Given the description of an element on the screen output the (x, y) to click on. 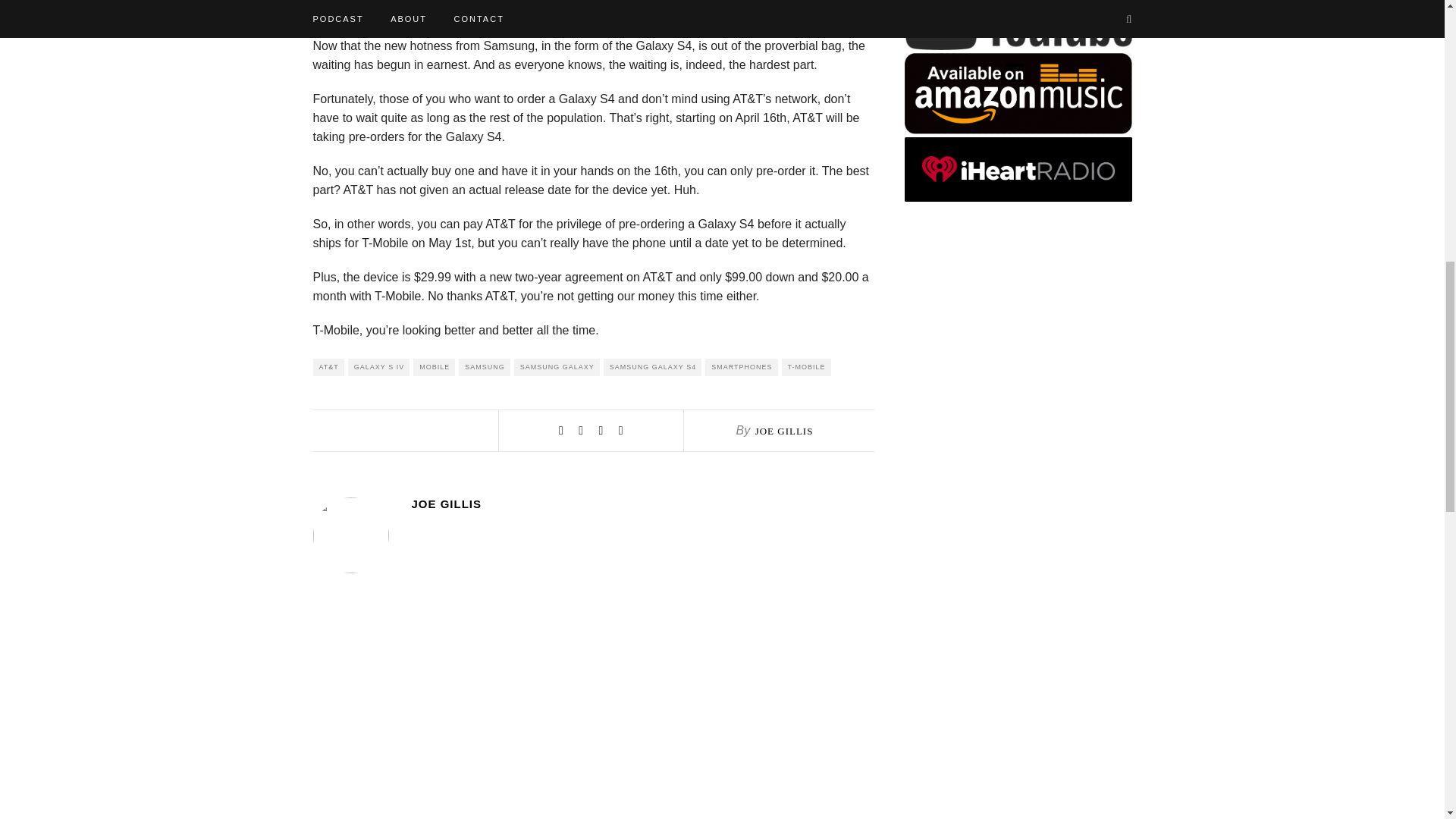
Posts by Joe Gillis (641, 503)
SAMSUNG GALAXY (556, 366)
SMARTPHONES (740, 366)
Posts by Joe Gillis (784, 430)
MOBILE (433, 366)
Advertisement (1017, 760)
T-MOBILE (806, 366)
JOE GILLIS (641, 503)
SAMSUNG (484, 366)
SAMSUNG GALAXY S4 (652, 366)
